Given the description of an element on the screen output the (x, y) to click on. 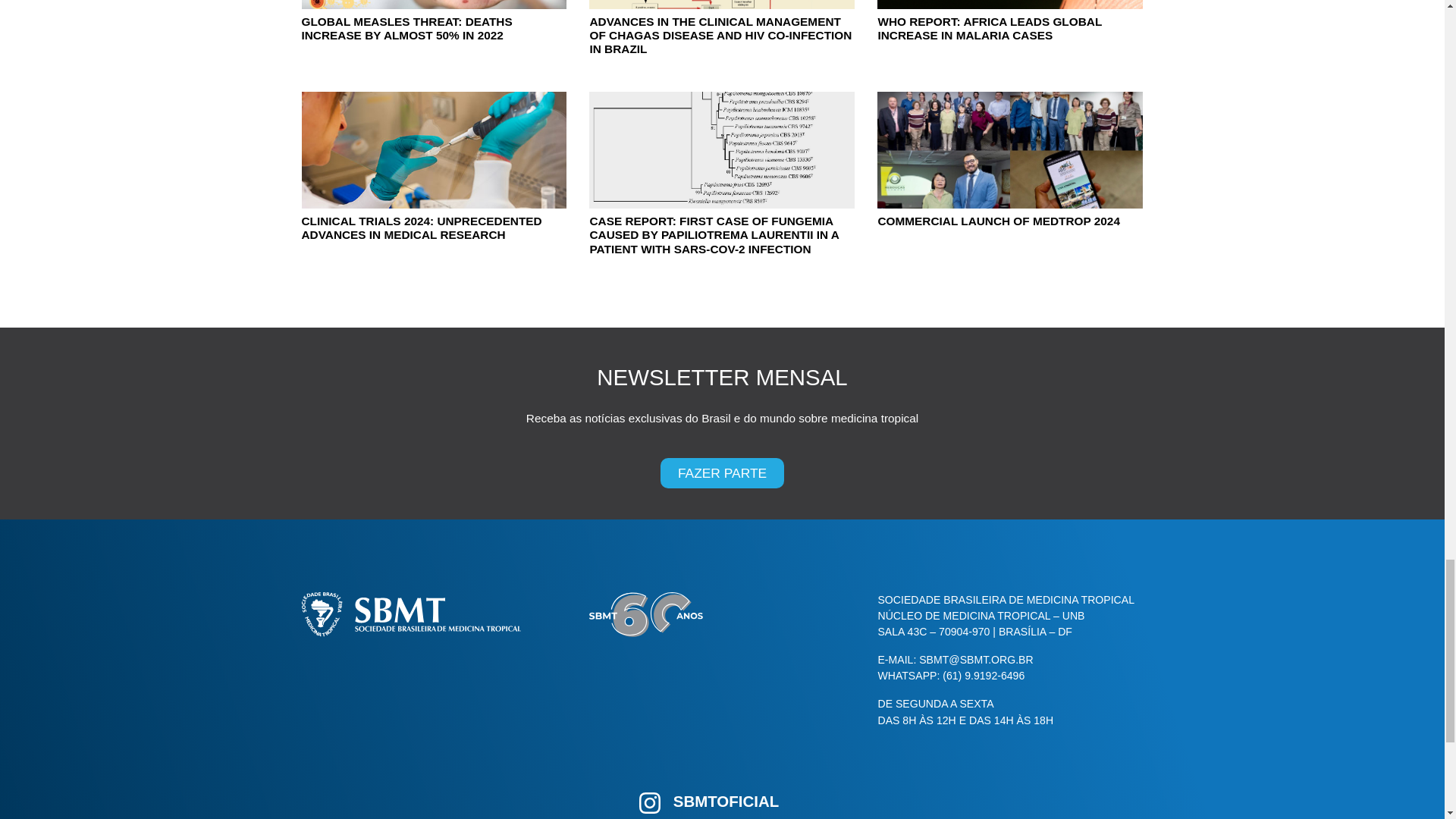
WHO REPORT: AFRICA LEADS GLOBAL INCREASE IN MALARIA CASES (1009, 29)
